Given the description of an element on the screen output the (x, y) to click on. 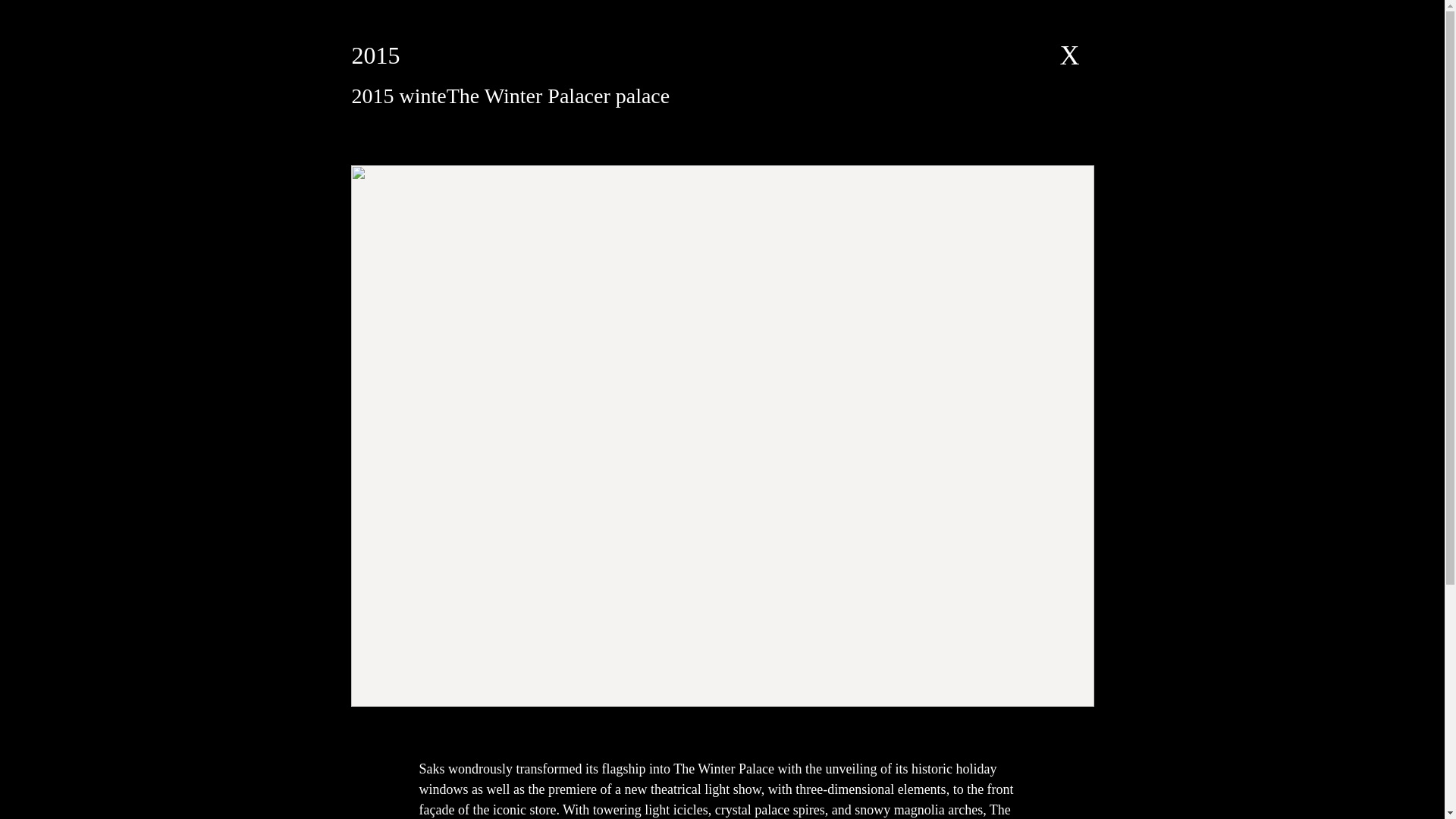
X (1069, 55)
